Given the description of an element on the screen output the (x, y) to click on. 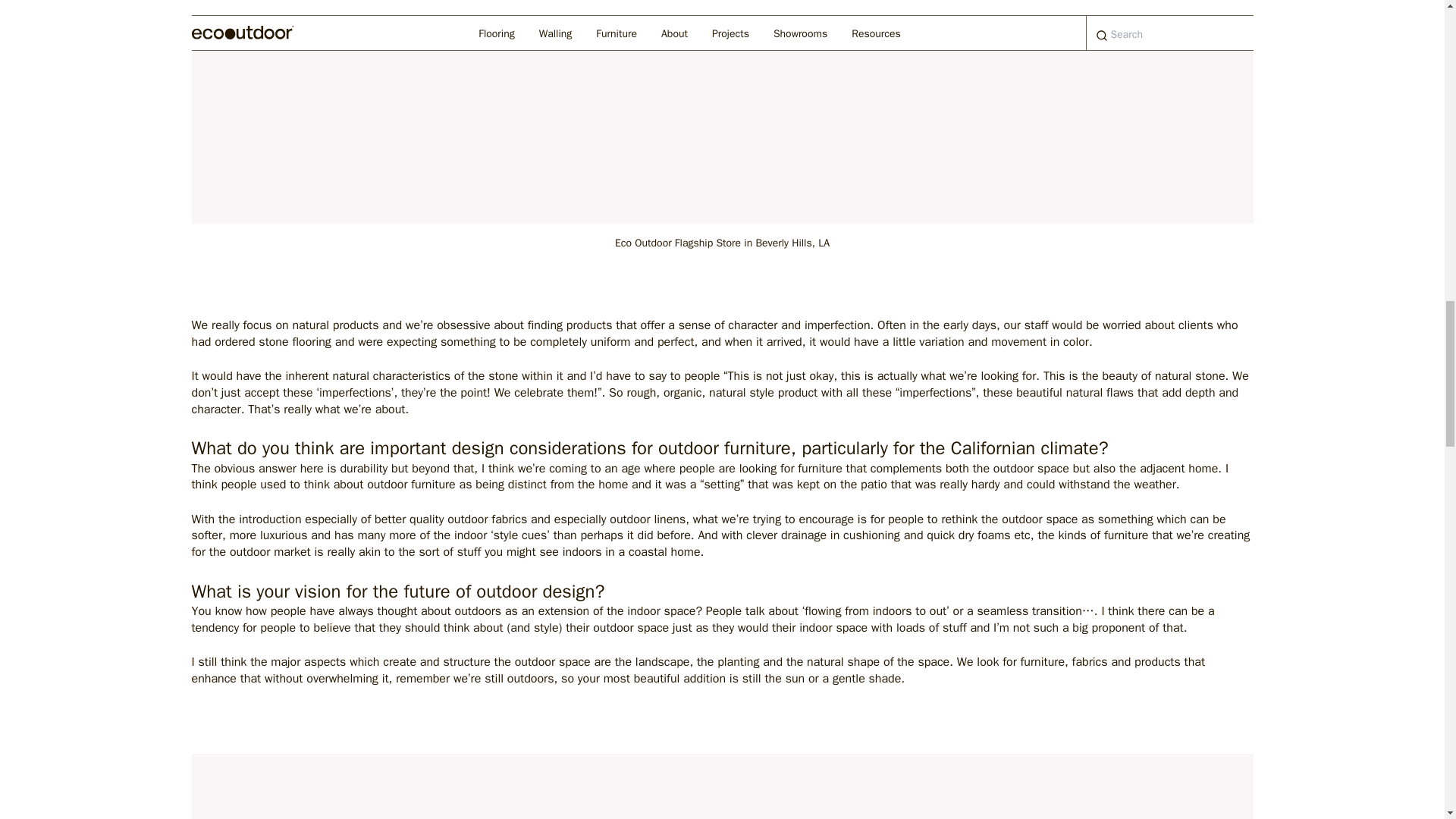
Outdoor Lifestyle (721, 786)
